Given the description of an element on the screen output the (x, y) to click on. 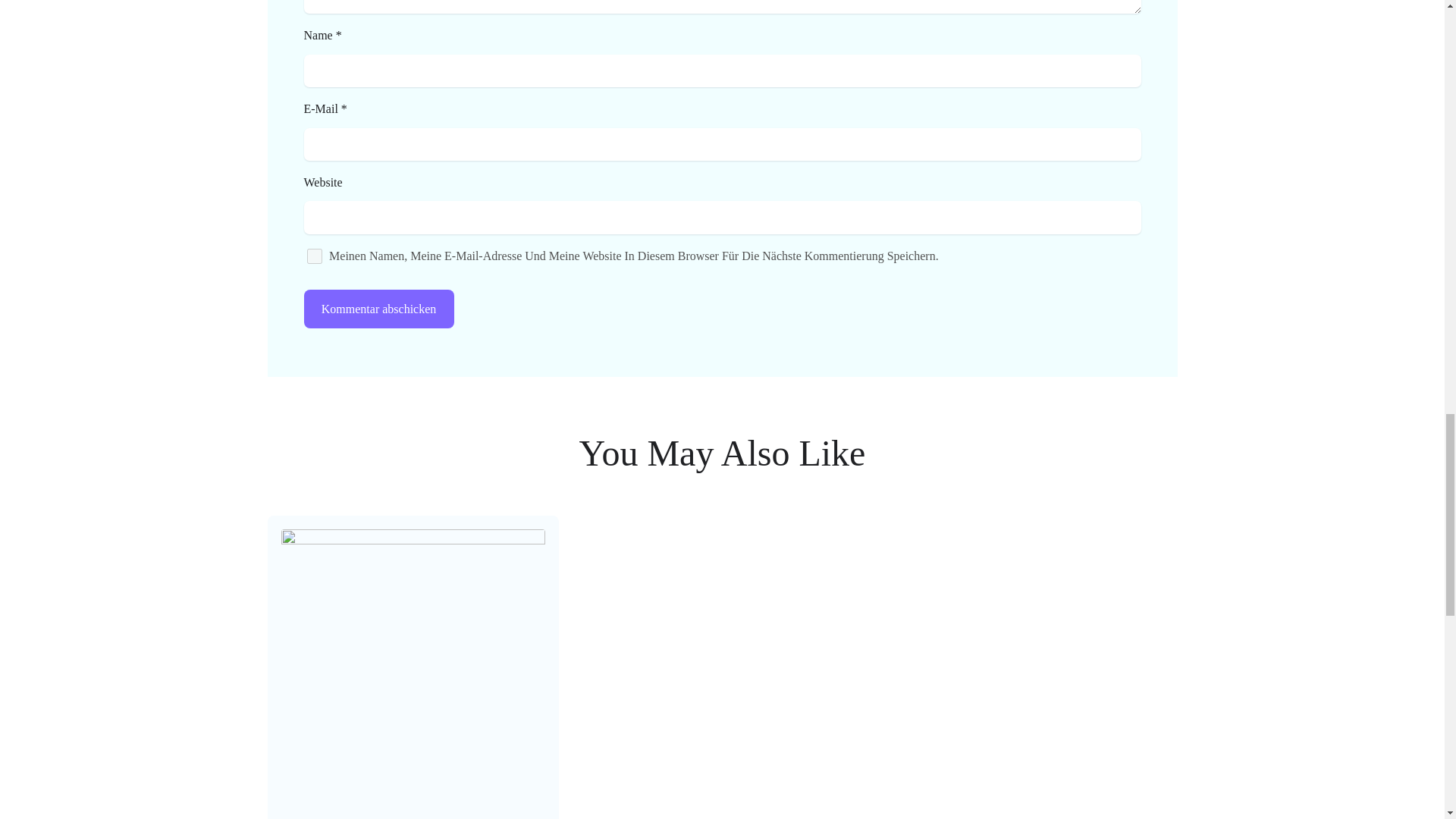
Kommentar abschicken (377, 308)
Kommentar abschicken (377, 308)
